Given the description of an element on the screen output the (x, y) to click on. 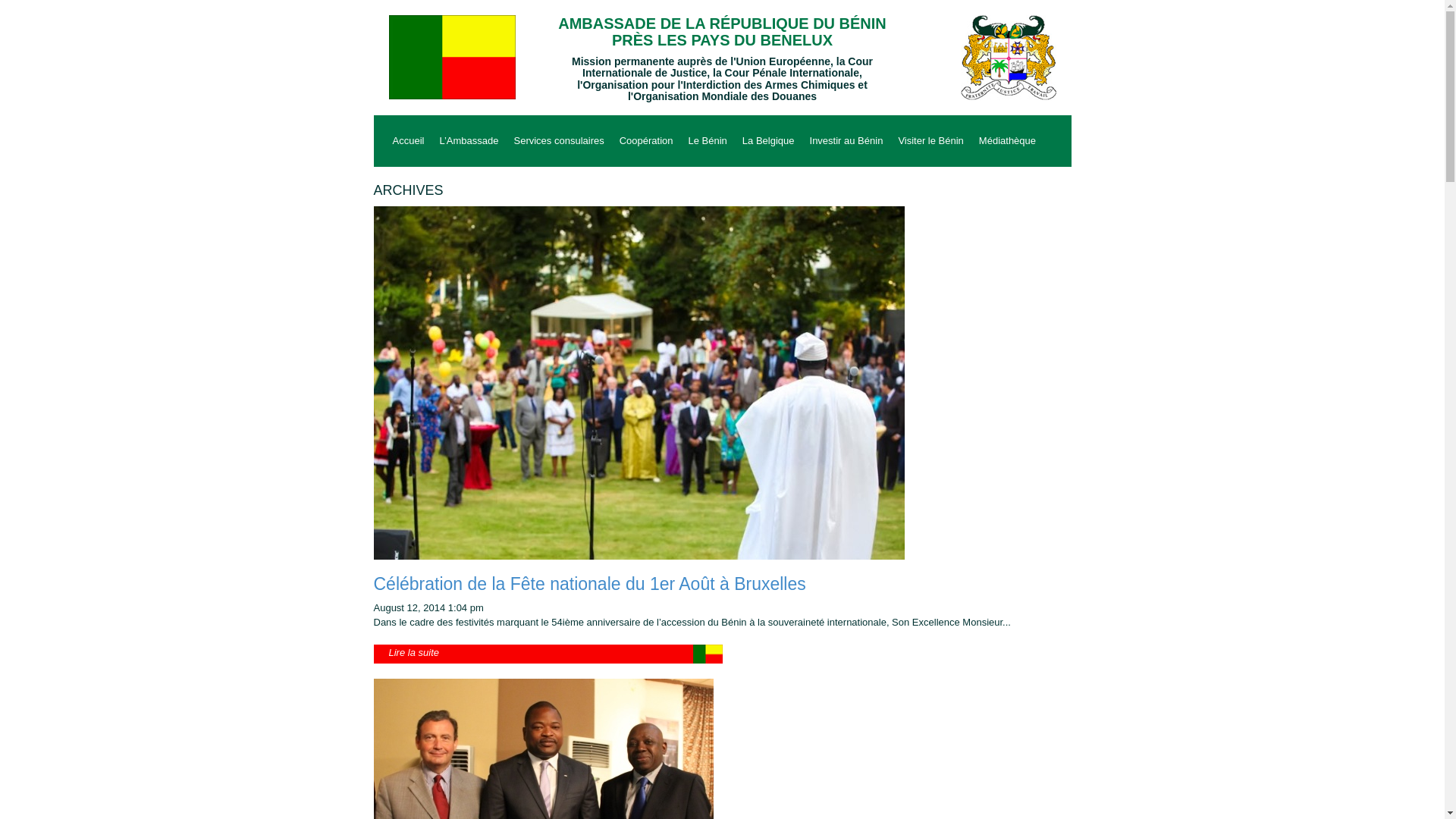
La Belgique Element type: text (768, 140)
Services consulaires Element type: text (558, 140)
Lire la suite Element type: text (547, 653)
Accueil Element type: text (408, 140)
